Given the description of an element on the screen output the (x, y) to click on. 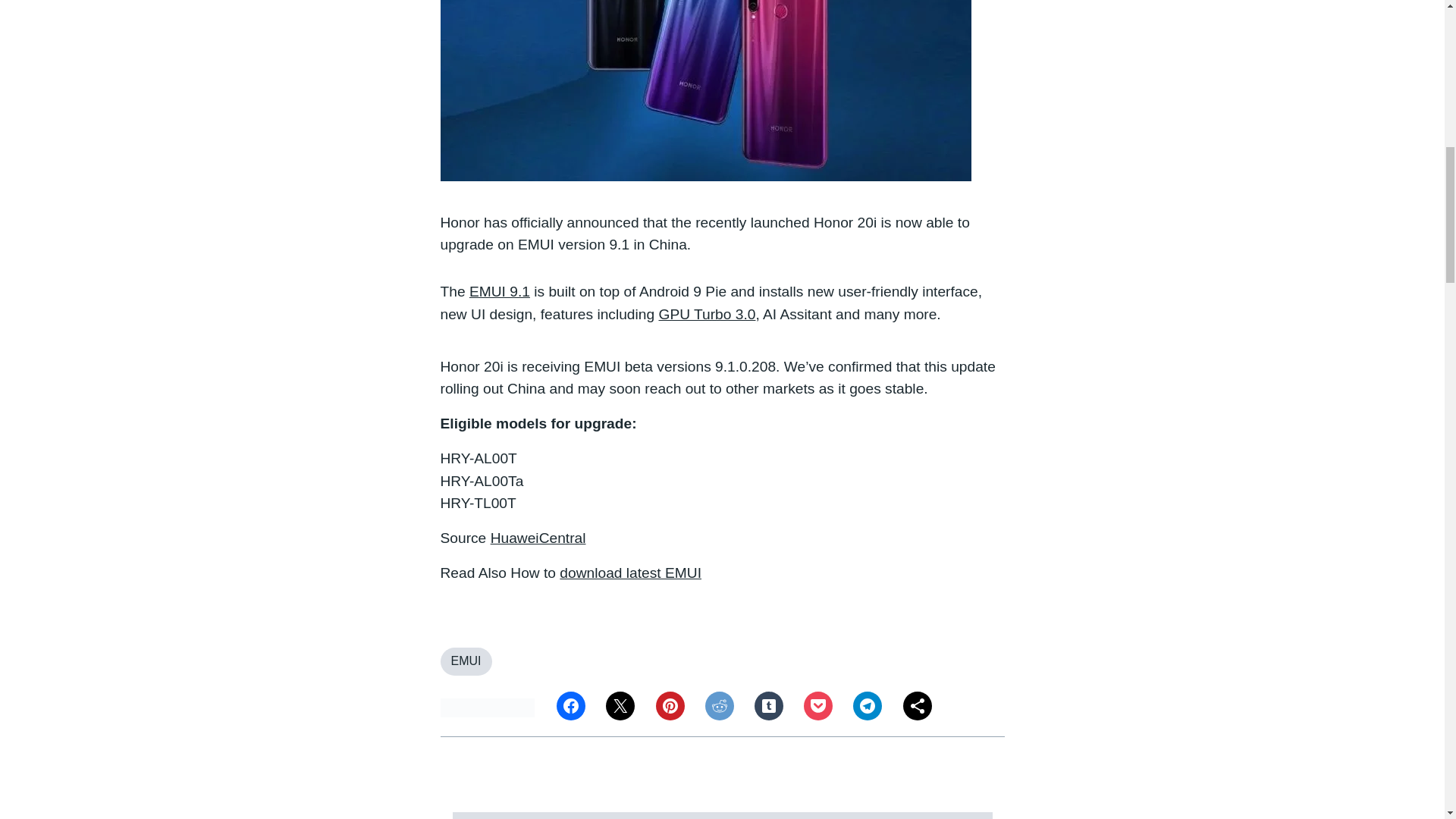
download latest EMUI (630, 572)
EMUI 9.1 (498, 291)
HuaweiCentral (538, 537)
EMUI (465, 661)
GPU Turbo 3.0 (706, 314)
